Given the description of an element on the screen output the (x, y) to click on. 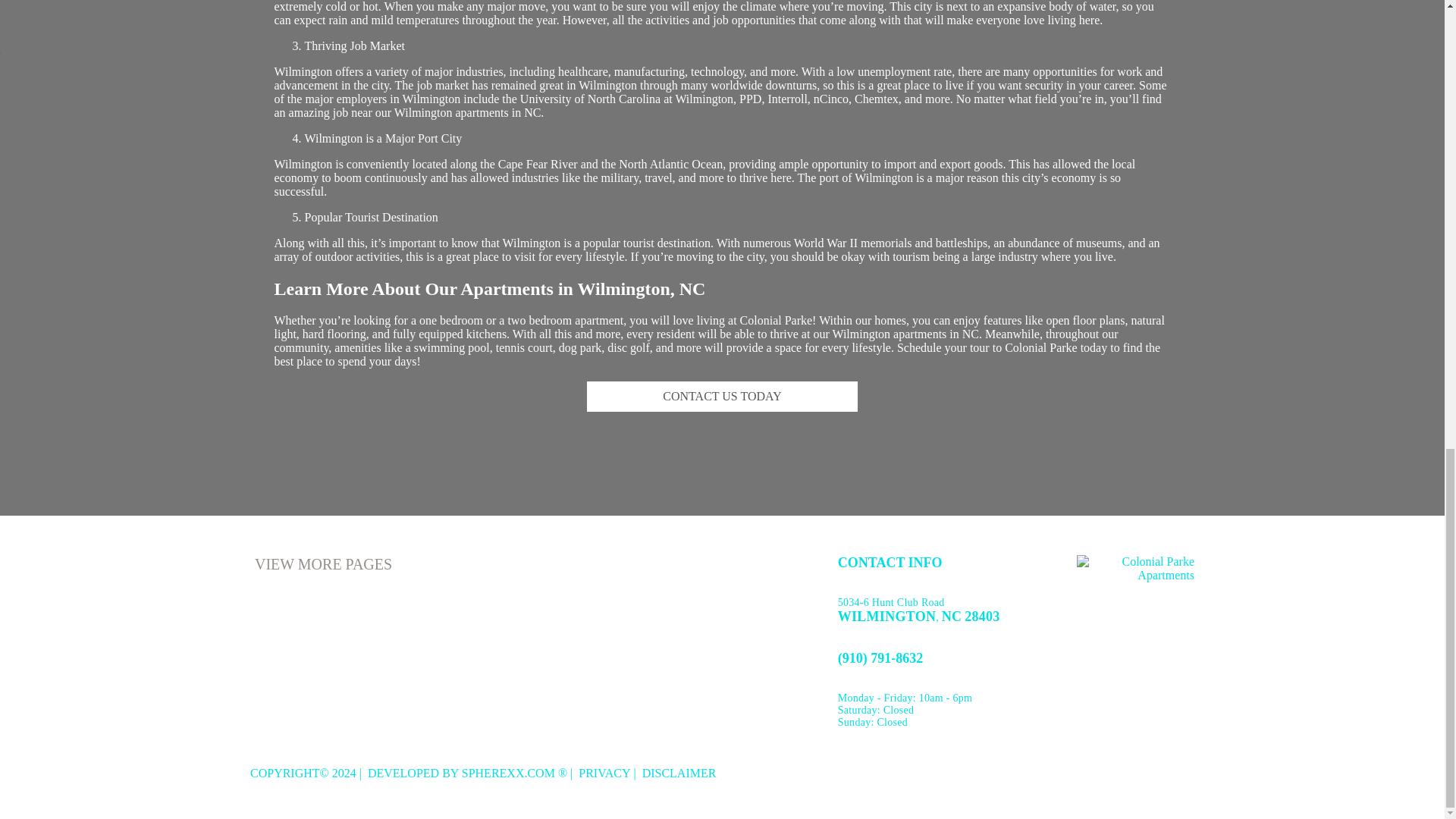
CONTACT US TODAY (721, 396)
DISCLAIMER (679, 772)
PRIVACY (604, 772)
SPHEREXX.COM (507, 772)
VIEW MORE PAGES (323, 564)
amenities (357, 347)
one bedroom (451, 319)
two bedroom (539, 319)
